Given the description of an element on the screen output the (x, y) to click on. 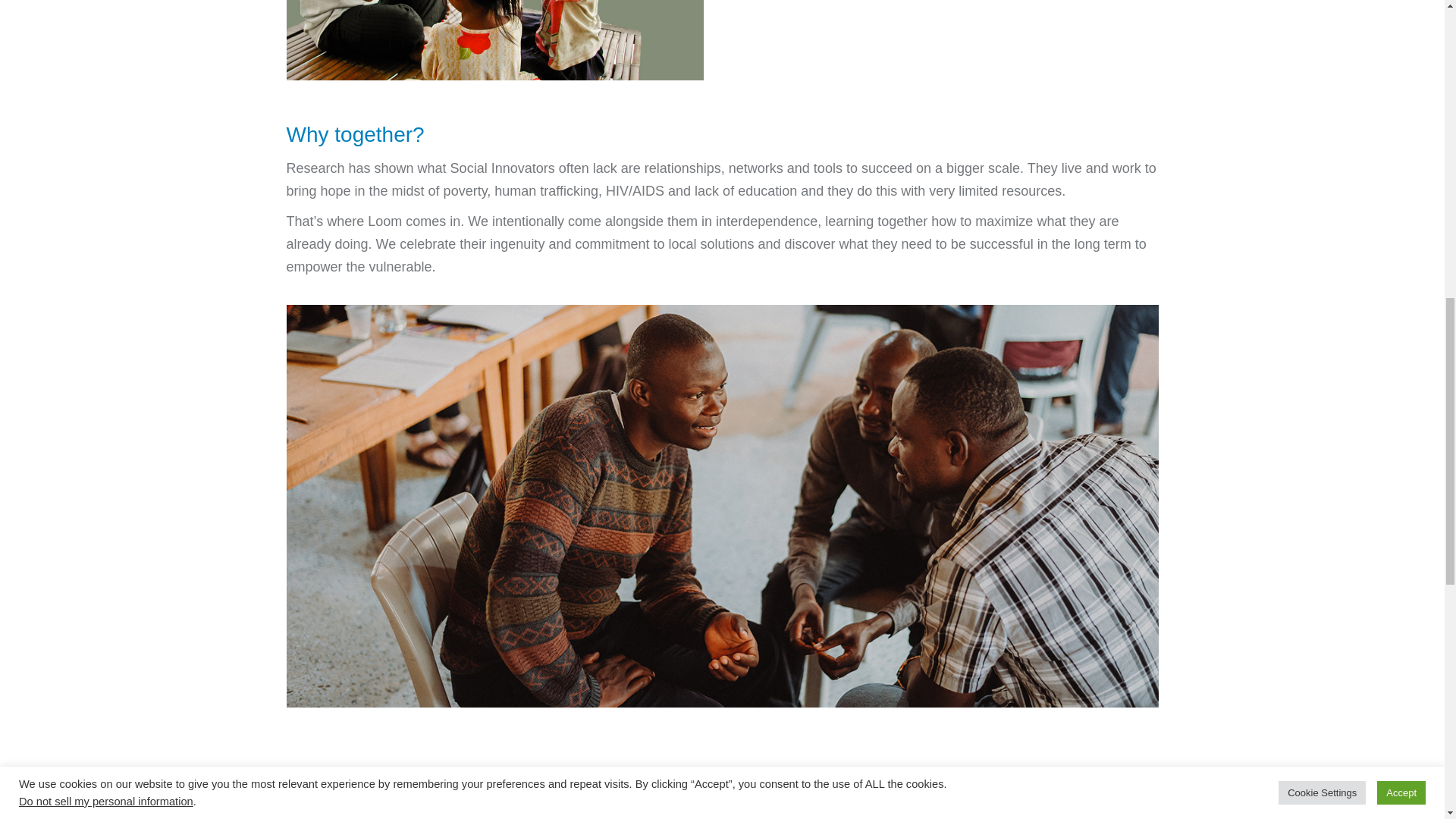
SocialInnovators1b (494, 40)
